Given the description of an element on the screen output the (x, y) to click on. 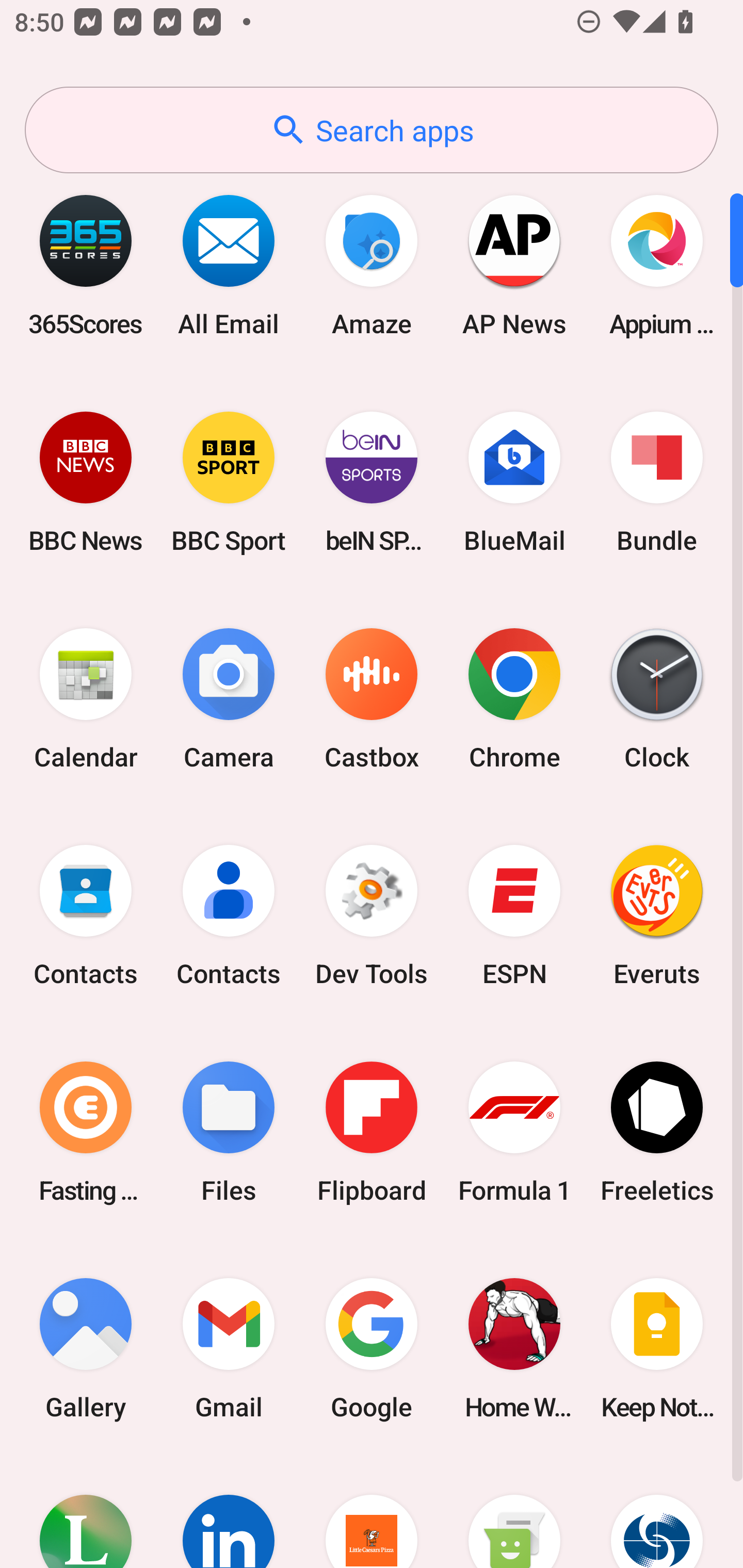
  Search apps (371, 130)
365Scores (85, 264)
All Email (228, 264)
Amaze (371, 264)
AP News (514, 264)
Appium Settings (656, 264)
BBC News (85, 482)
BBC Sport (228, 482)
beIN SPORTS (371, 482)
BlueMail (514, 482)
Bundle (656, 482)
Calendar (85, 699)
Camera (228, 699)
Castbox (371, 699)
Chrome (514, 699)
Clock (656, 699)
Contacts (85, 915)
Contacts (228, 915)
Dev Tools (371, 915)
ESPN (514, 915)
Everuts (656, 915)
Fasting Coach (85, 1131)
Files (228, 1131)
Flipboard (371, 1131)
Formula 1 (514, 1131)
Freeletics (656, 1131)
Gallery (85, 1348)
Gmail (228, 1348)
Google (371, 1348)
Home Workout (514, 1348)
Keep Notes (656, 1348)
